Given the description of an element on the screen output the (x, y) to click on. 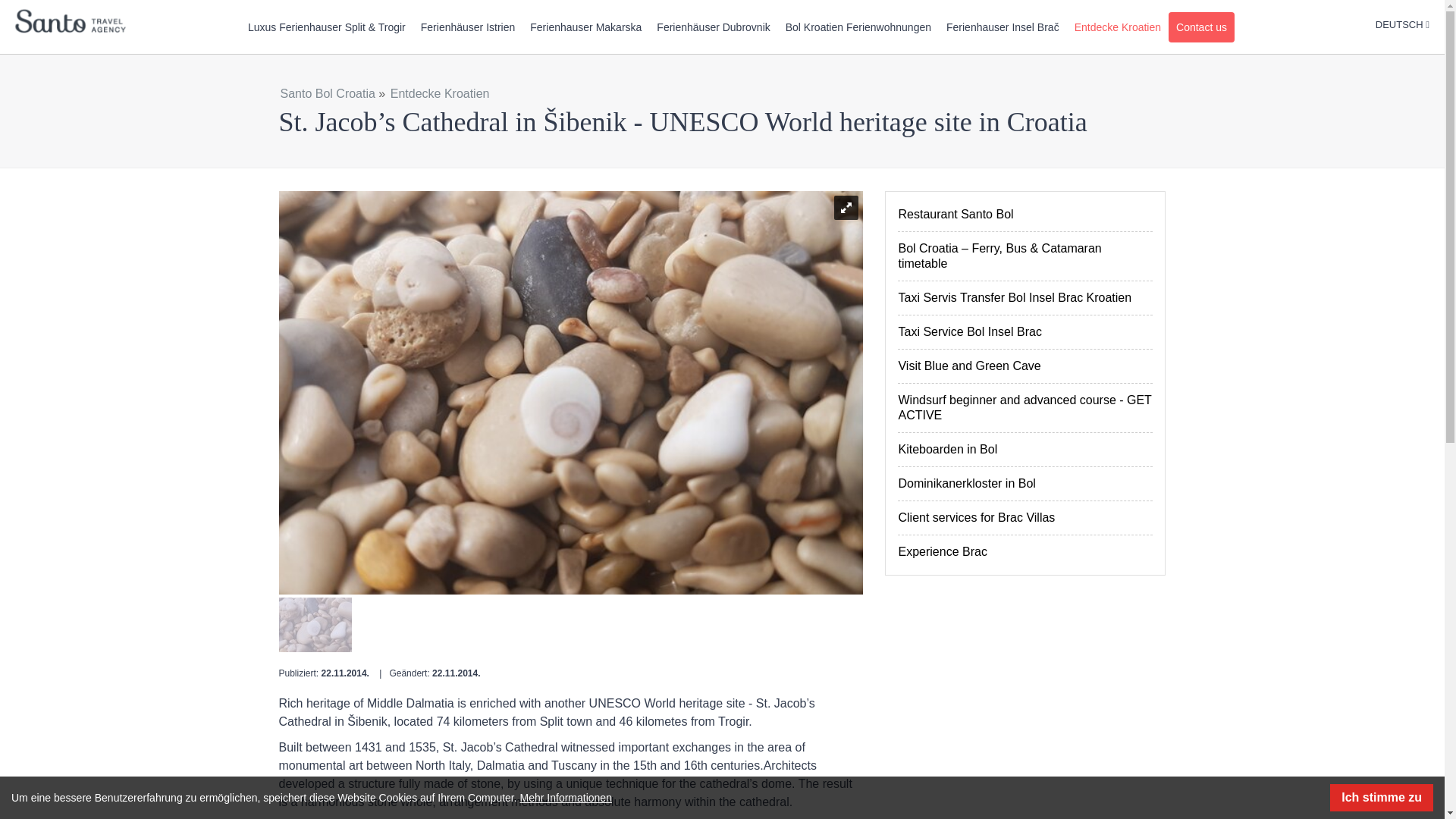
Entdecke Kroatien (439, 92)
Taxi Service Bol Insel Brac (1025, 331)
DEUTSCH  (1402, 24)
Client services for Brac Villas (1025, 517)
Santo (69, 22)
Entdecke Kroatien (1118, 27)
Bol Kroatien Ferienwohnungen (858, 27)
Santo (69, 22)
Dominikanerkloster in Bol (1025, 483)
Taxi Servis Transfer Bol Insel Brac Kroatien (1025, 297)
Kiteboarden in Bol (1025, 449)
Ich stimme zu (1381, 797)
Windsurf beginner and advanced course - GET ACTIVE (1025, 408)
Visit Blue and Green Cave (1025, 366)
Ferienhauser Makarska (585, 27)
